Given the description of an element on the screen output the (x, y) to click on. 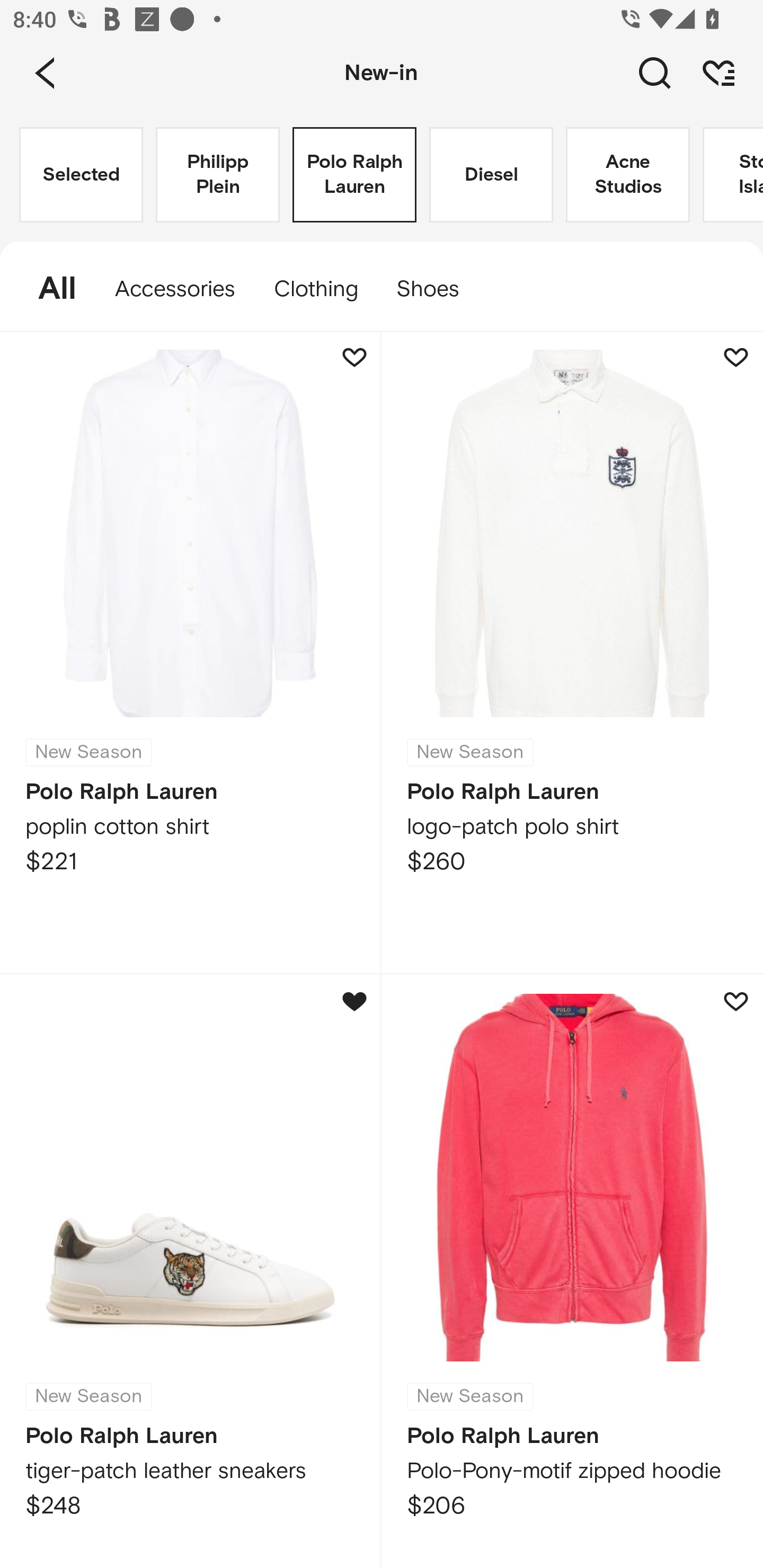
Selected (81, 174)
Philipp Plein (217, 174)
Polo Ralph Lauren (354, 174)
Diesel (490, 174)
Acne Studios (627, 174)
All (47, 288)
Accessories (174, 288)
Clothing (315, 288)
Shoes (436, 288)
